Given the description of an element on the screen output the (x, y) to click on. 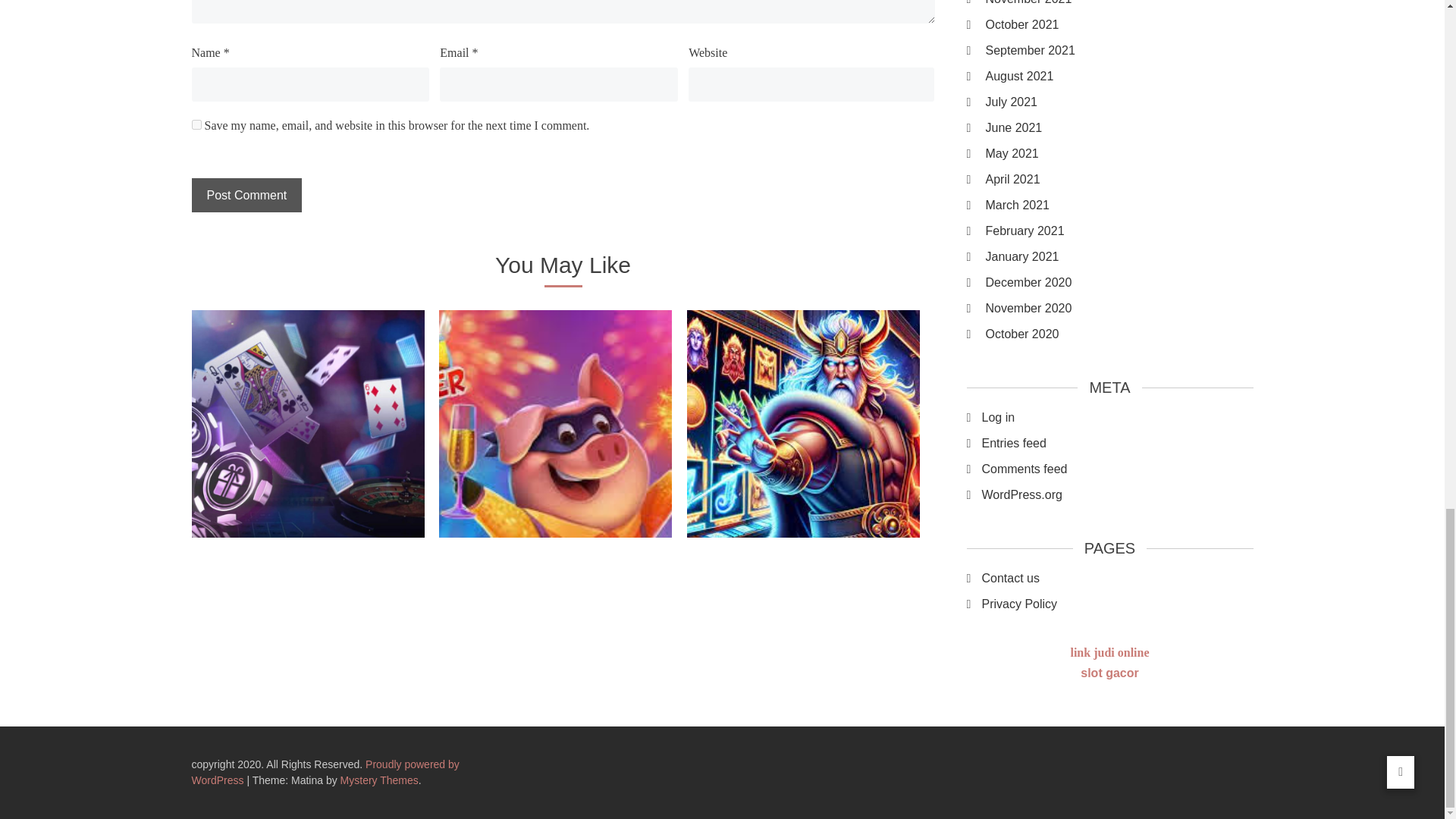
Post Comment (245, 195)
Post Comment (245, 195)
yes (195, 124)
